Given the description of an element on the screen output the (x, y) to click on. 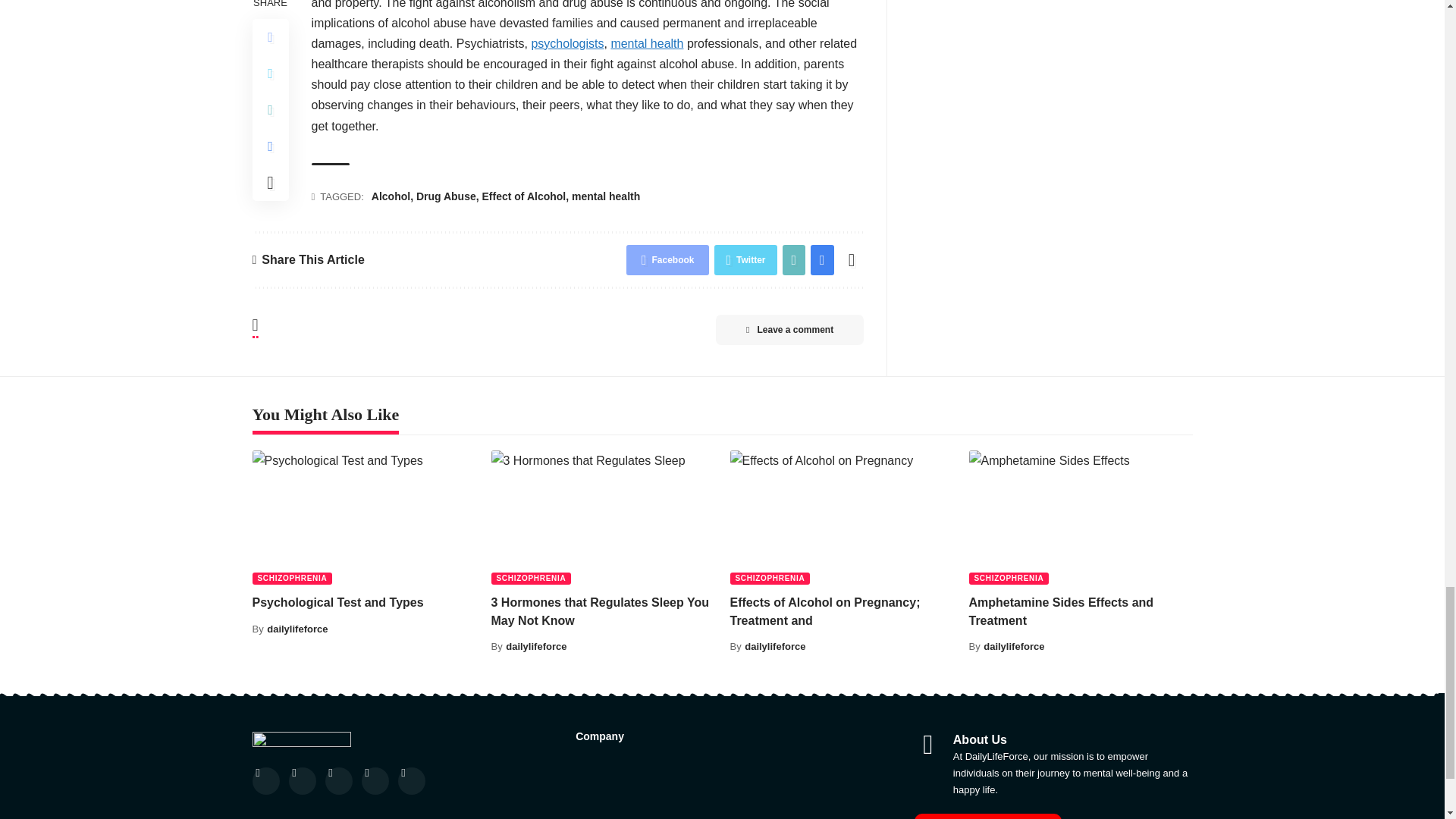
Psychological Test and Types (363, 517)
Effects of Alcohol on Pregnancy; Treatment and (841, 517)
3 Hormones that Regulates Sleep You May Not Know (603, 517)
Amphetamine Sides Effects and Treatment (1080, 517)
